Given the description of an element on the screen output the (x, y) to click on. 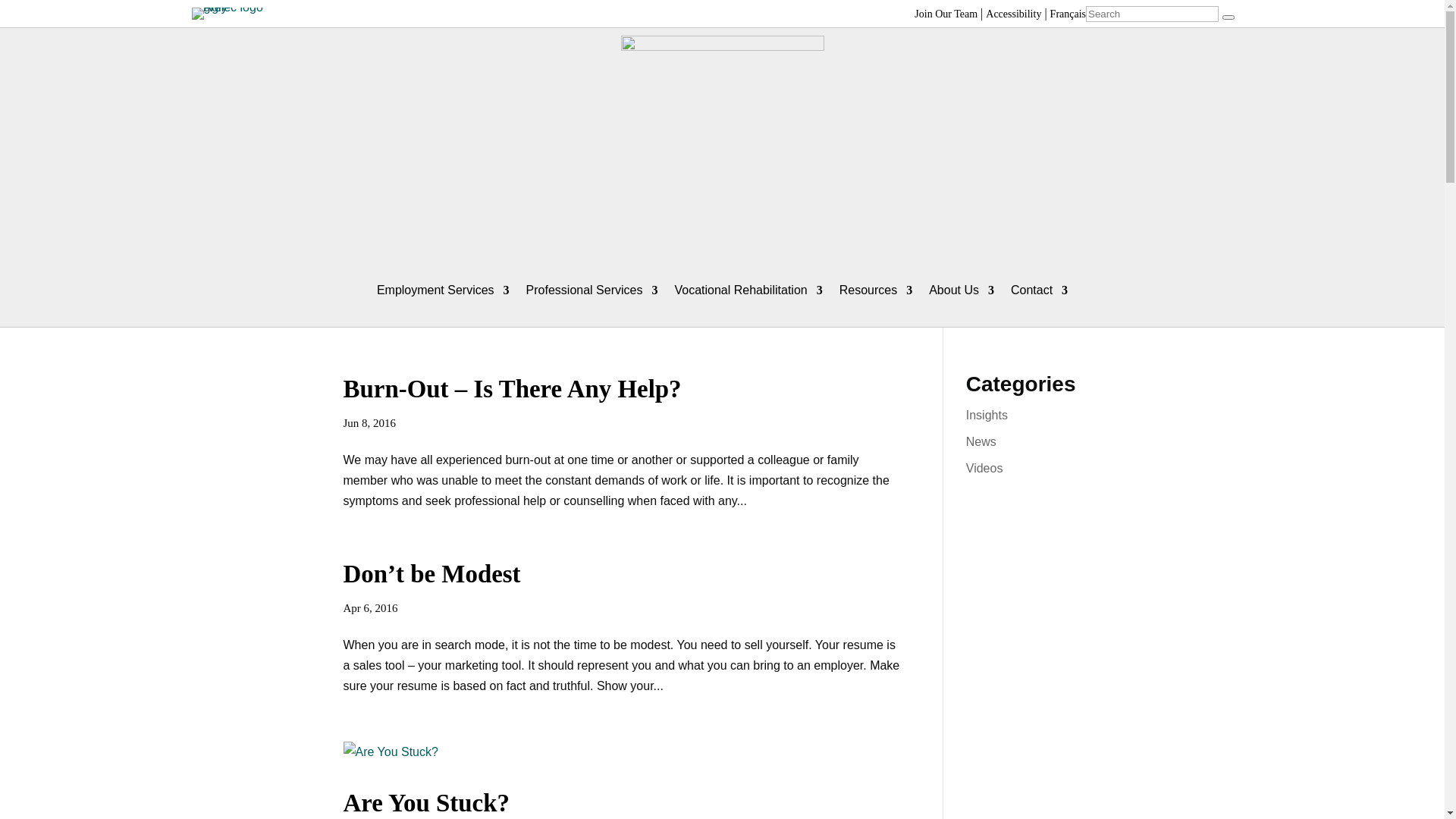
Professional Services Element type: text (592, 290)
About Us Element type: text (961, 290)
Insights Element type: text (986, 414)
agilec-logo-registered Element type: hover (236, 13)
Employment Services Element type: text (442, 290)
Join Our Team Element type: text (945, 13)
Are You Stuck? Element type: text (425, 801)
Videos Element type: text (984, 467)
Vocational Rehabilitation Element type: text (748, 290)
News Element type: text (981, 441)
Contact Element type: text (1038, 290)
Accessibility Element type: text (1013, 13)
Resources Element type: text (875, 290)
